Given the description of an element on the screen output the (x, y) to click on. 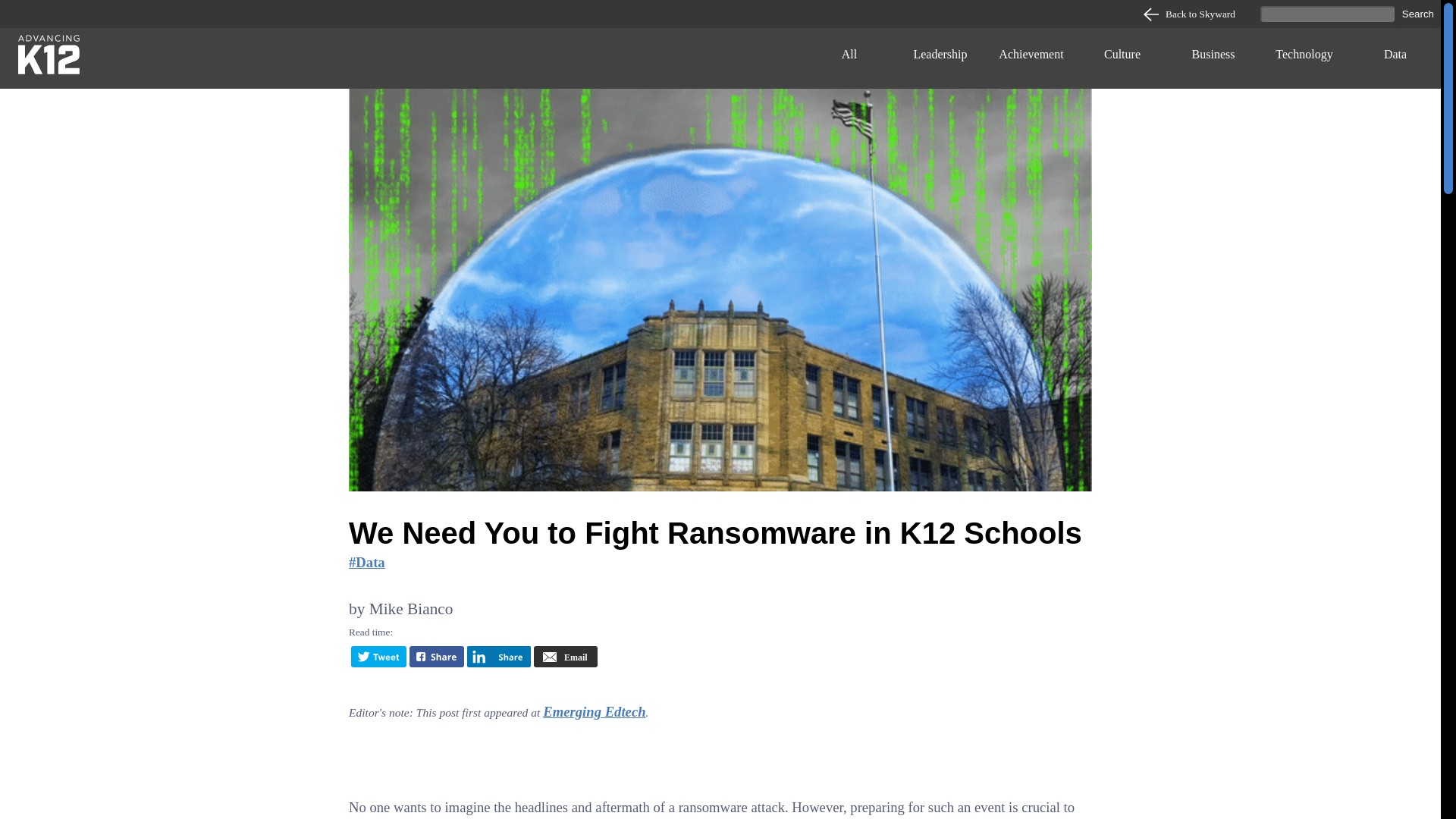
Facebook (436, 662)
Leadership (940, 57)
Achievement (1031, 57)
Culture (1122, 57)
Technology (1304, 57)
All (849, 57)
Twitter (378, 662)
Search (1417, 14)
Data (367, 562)
Culture (1122, 57)
